Given the description of an element on the screen output the (x, y) to click on. 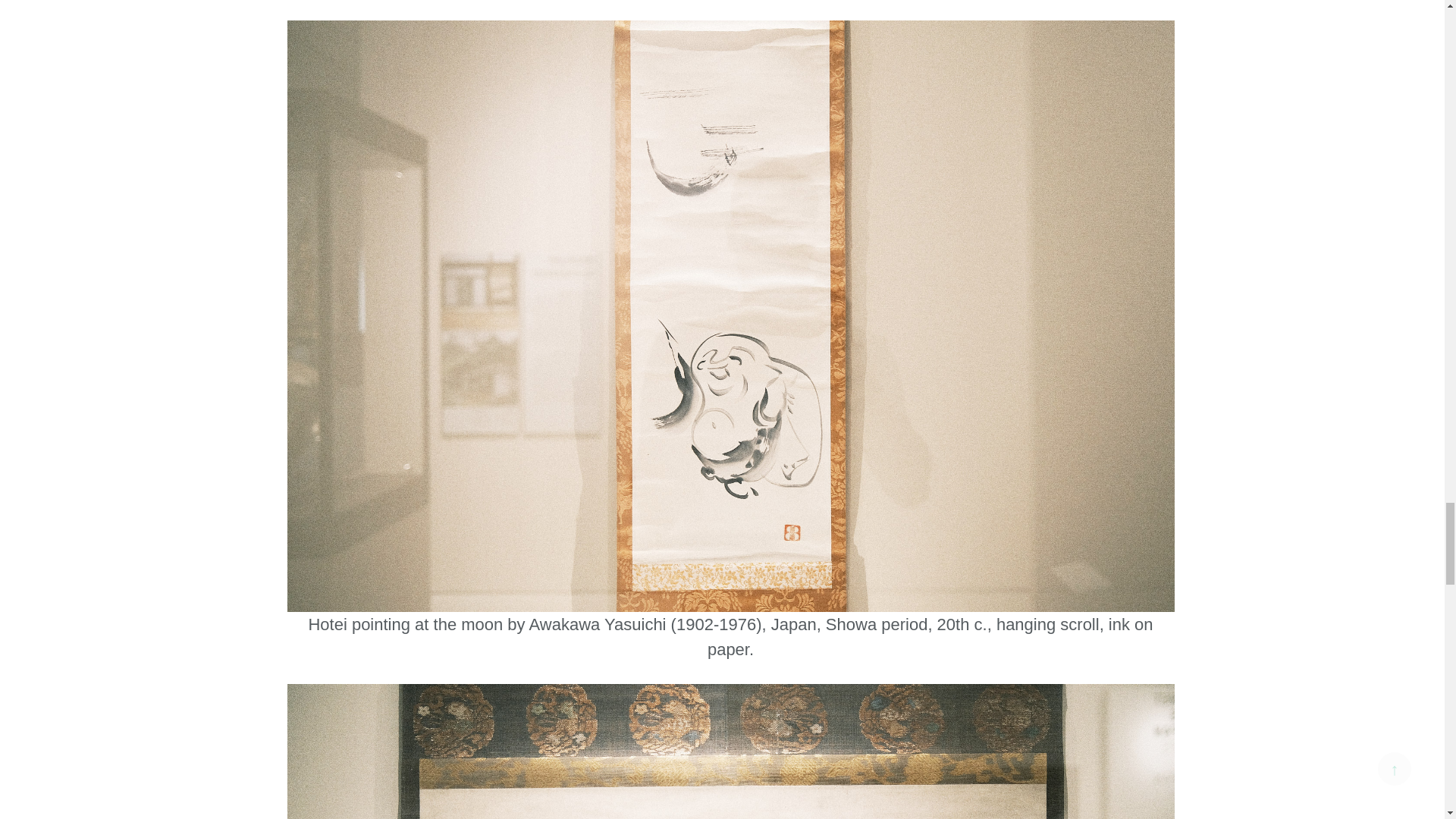
Hotei pointing at the moon by Awakawa Yasuichi. (729, 314)
